Given the description of an element on the screen output the (x, y) to click on. 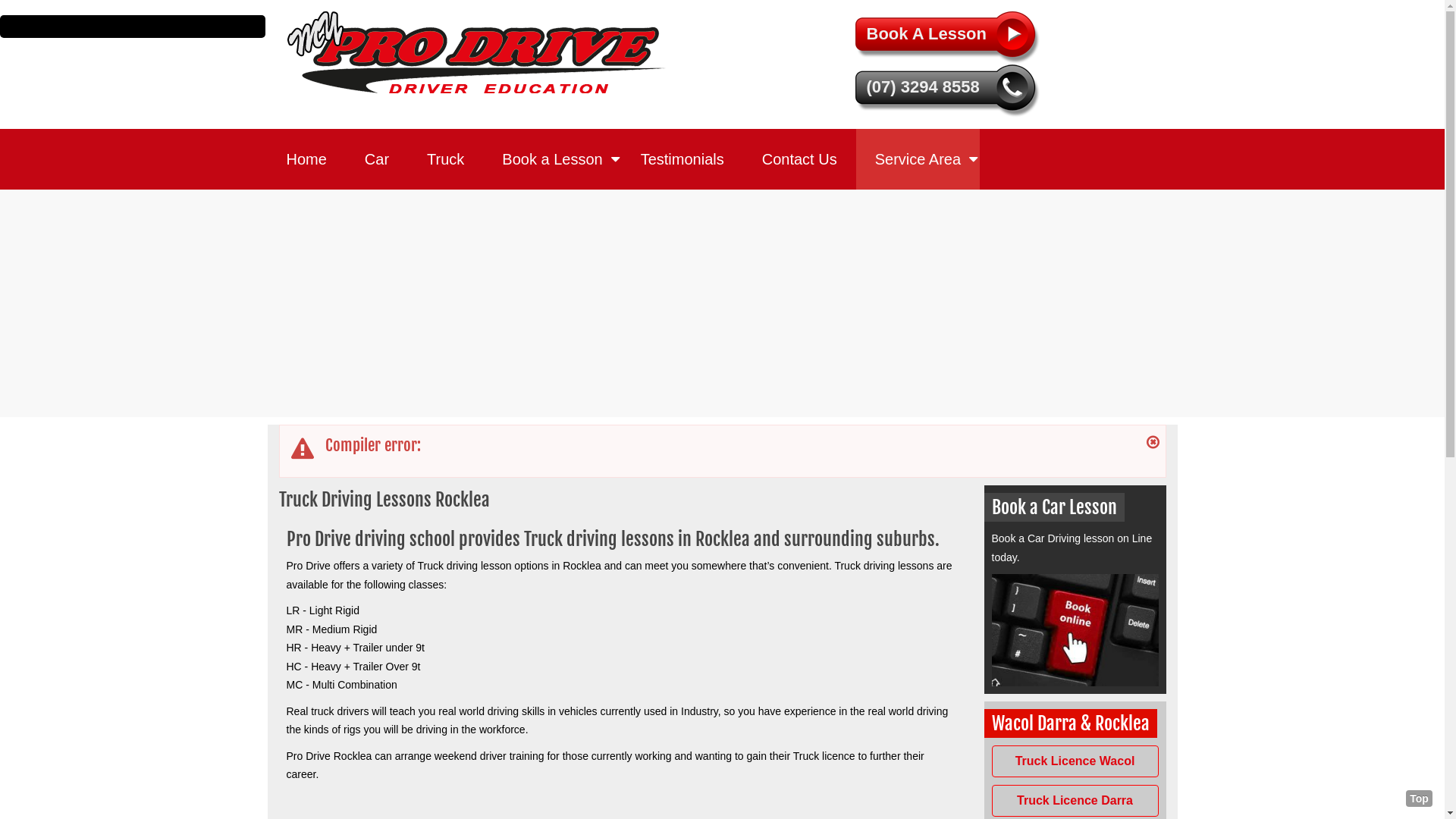
Book a Lesson Element type: text (552, 158)
Home Element type: text (305, 158)
Ipswich Pro Drive Element type: hover (475, 51)
Car Element type: text (376, 158)
Truck Element type: text (445, 158)
(07) 3294 8558 Element type: text (949, 90)
Book A Lesson Element type: text (949, 37)
